Given the description of an element on the screen output the (x, y) to click on. 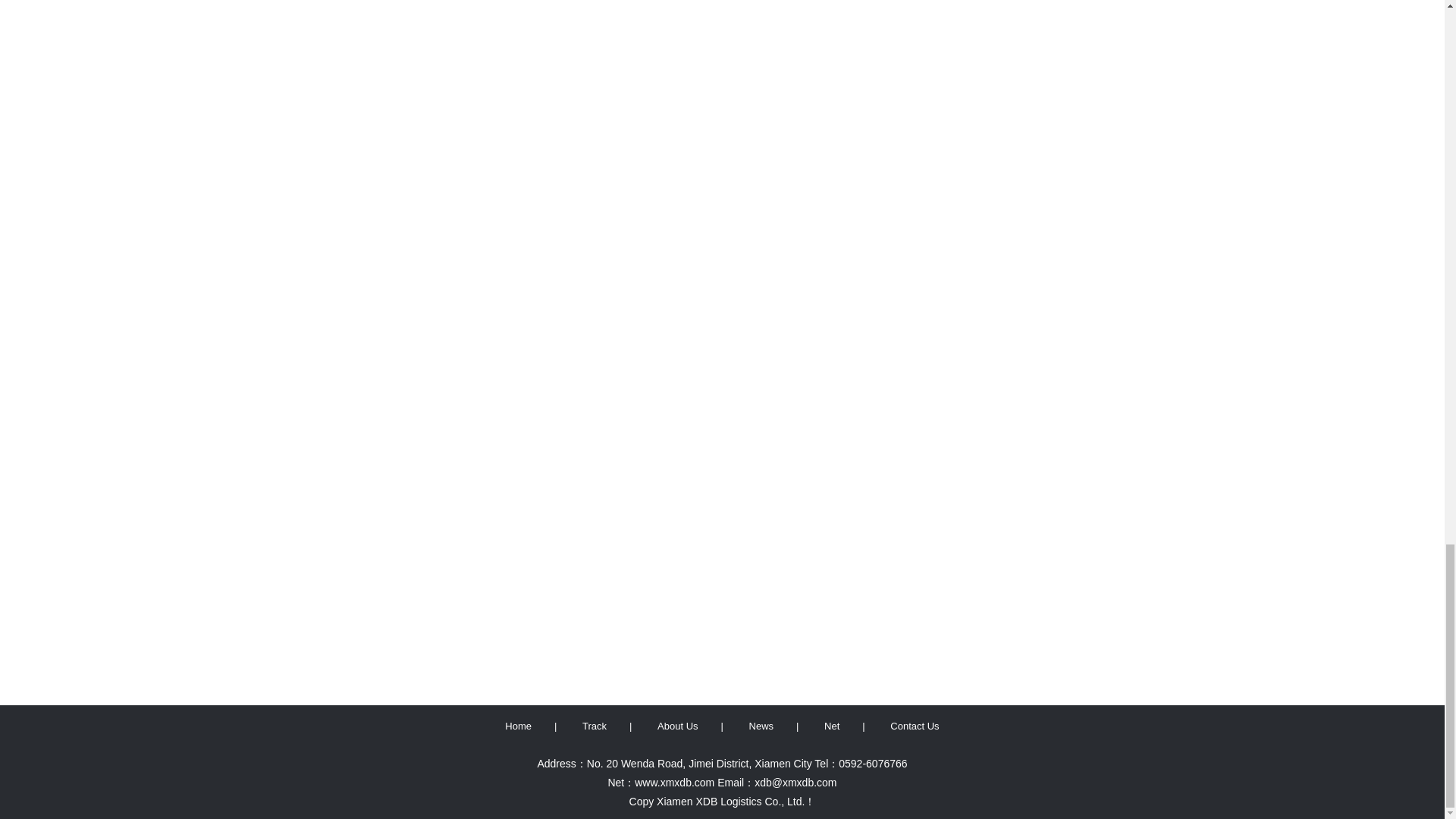
Contact Us (913, 726)
www.xmxdb.com (674, 782)
Home (517, 726)
Track (593, 726)
About Us (677, 726)
Net (831, 726)
News (761, 726)
